Given the description of an element on the screen output the (x, y) to click on. 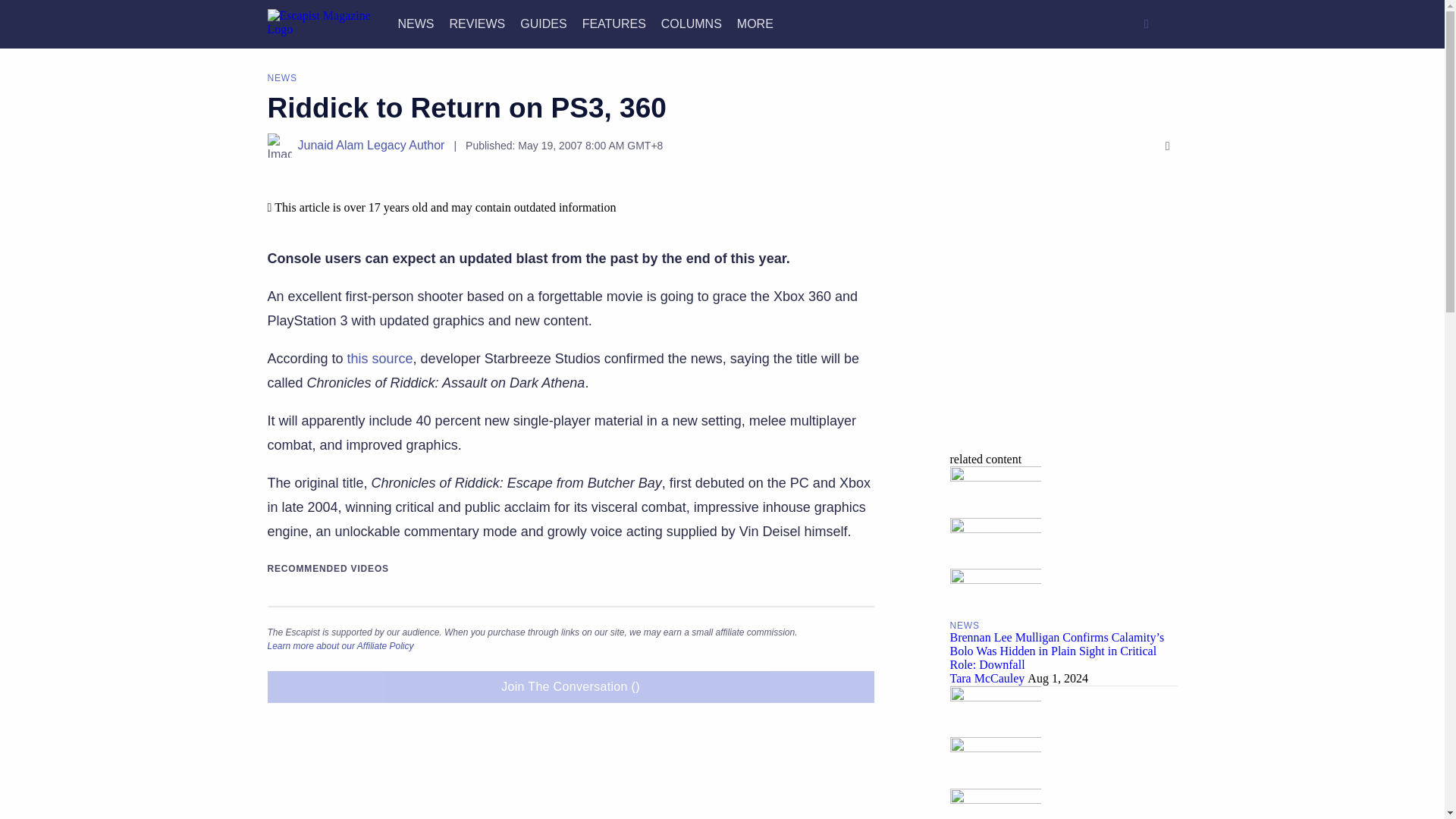
REVIEWS (476, 23)
FEATURES (614, 23)
COLUMNS (691, 23)
NEWS (415, 23)
GUIDES (542, 23)
